Given the description of an element on the screen output the (x, y) to click on. 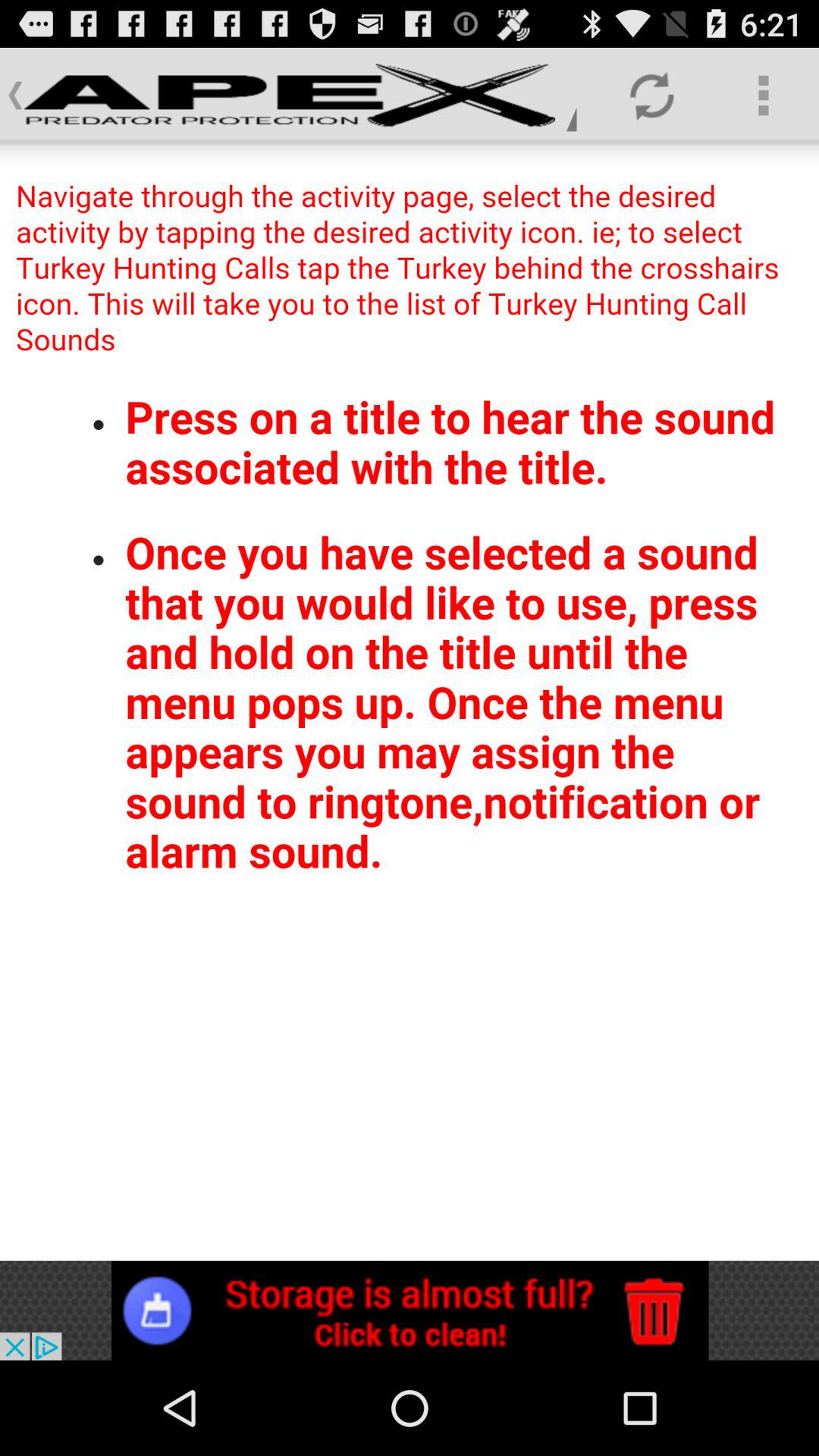
advertisement banner (409, 1310)
